Given the description of an element on the screen output the (x, y) to click on. 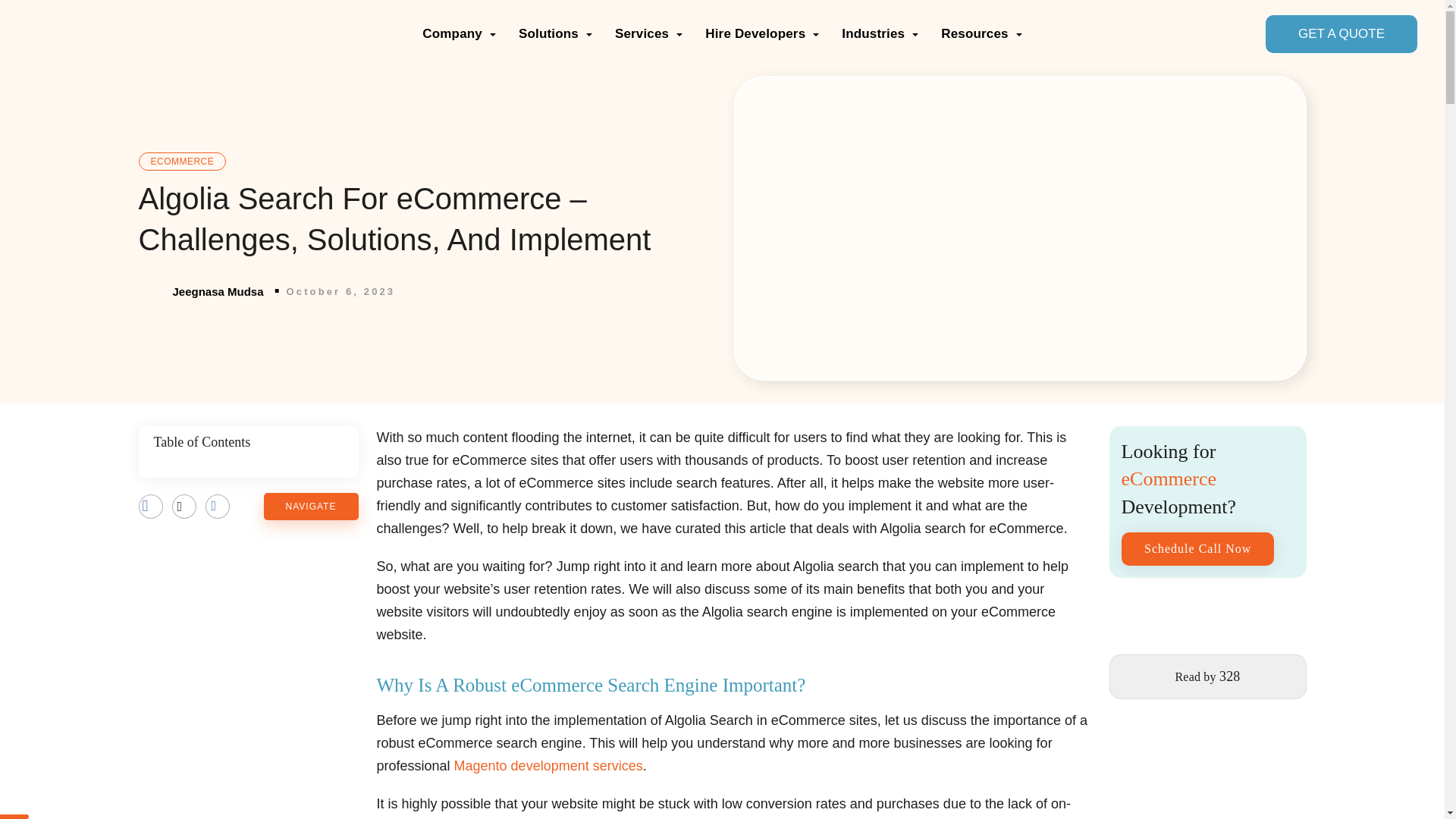
Twitter (183, 506)
Company (459, 33)
Jeegnasa Mudsa (200, 292)
Facebook (149, 506)
eCommerce (181, 160)
LinkedIn (216, 506)
Solutions (555, 33)
